Given the description of an element on the screen output the (x, y) to click on. 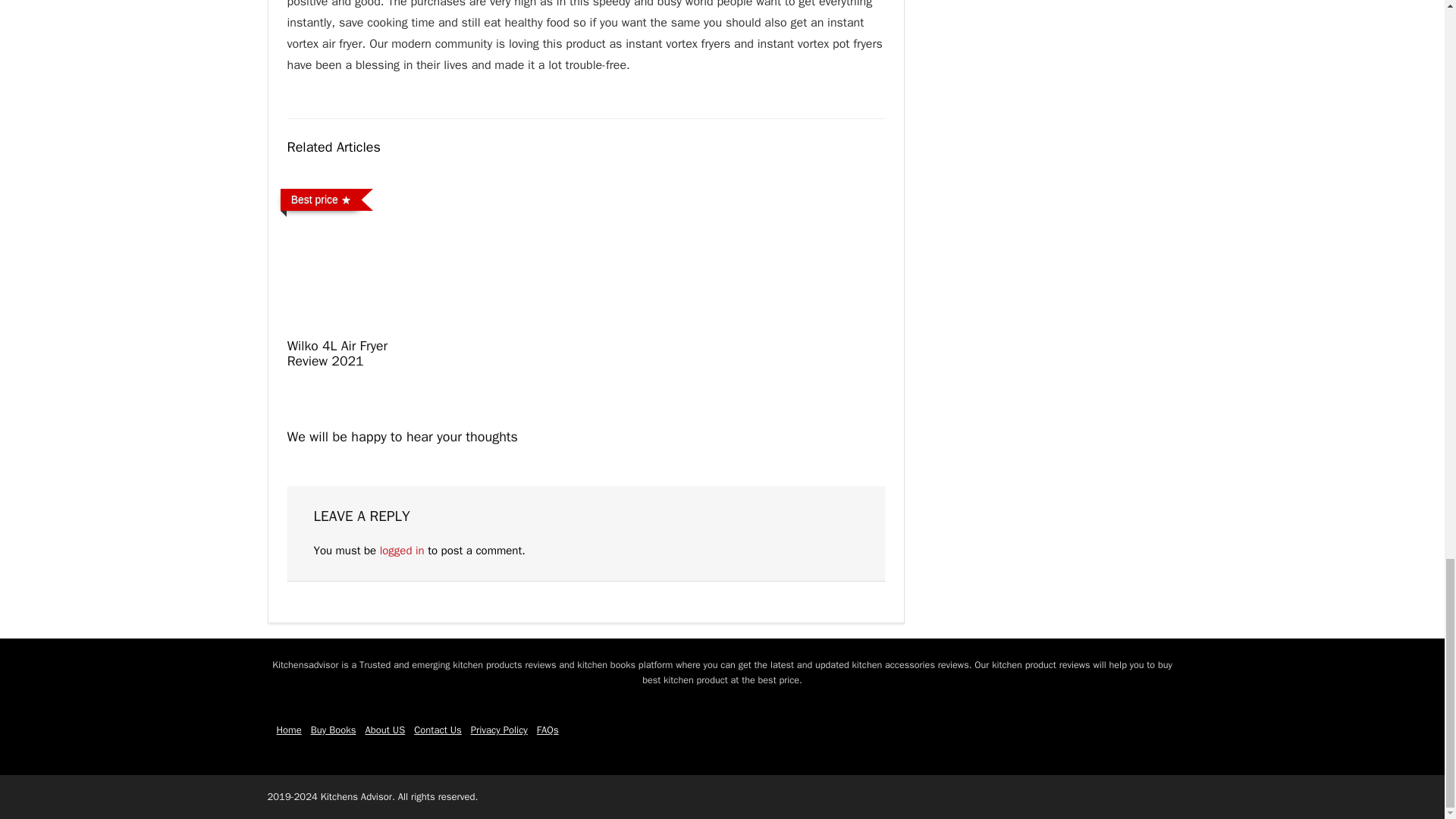
About US (384, 729)
Contact Us (437, 729)
logged in (402, 550)
Privacy Policy (498, 729)
FAQs (548, 729)
Wilko 4L Air Fryer Review 2021 (337, 353)
Home (288, 729)
Buy Books (333, 729)
